Given the description of an element on the screen output the (x, y) to click on. 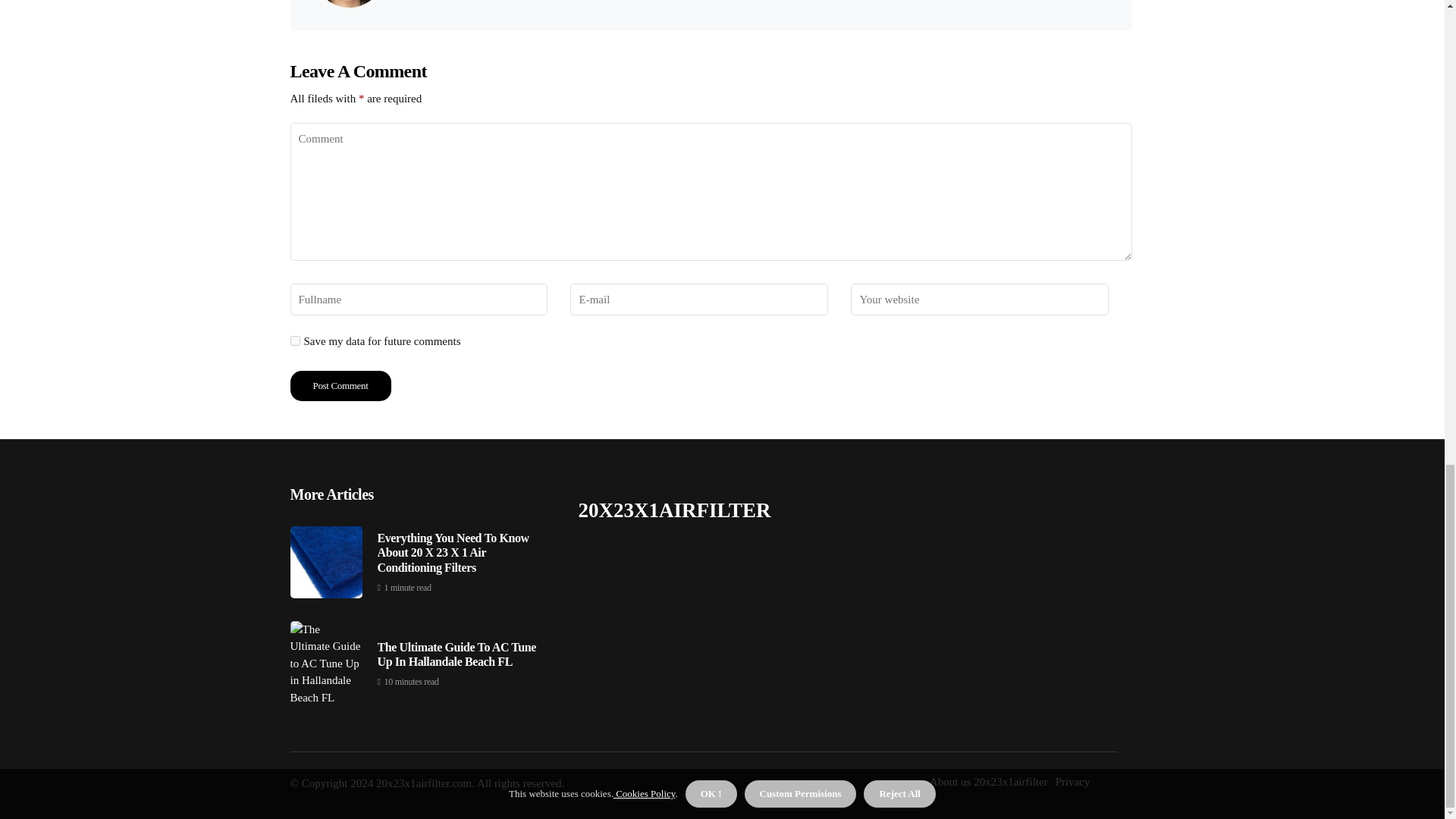
Post Comment (339, 386)
Post Comment (339, 386)
yes (294, 340)
